Given the description of an element on the screen output the (x, y) to click on. 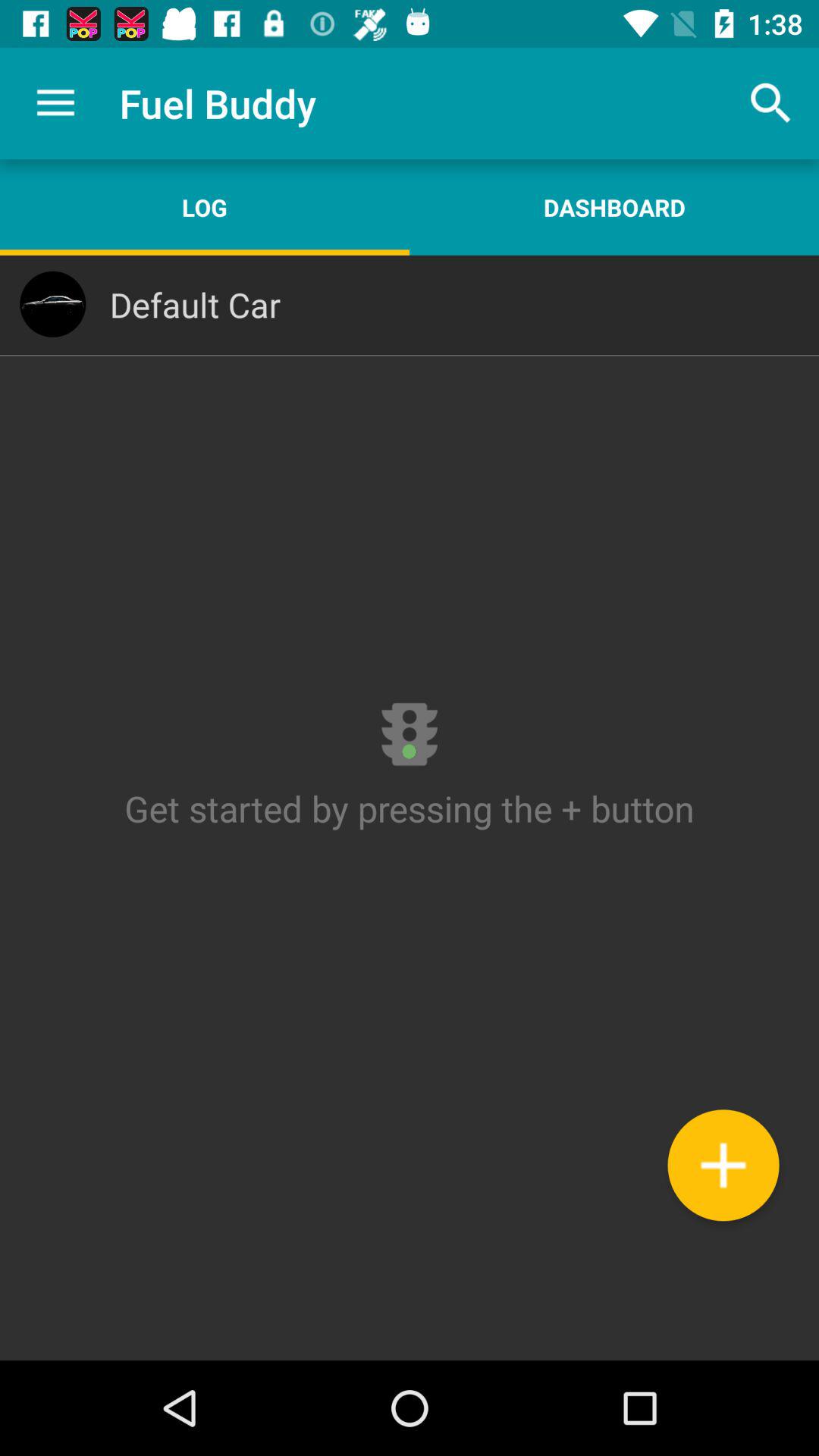
scroll to log icon (204, 207)
